Given the description of an element on the screen output the (x, y) to click on. 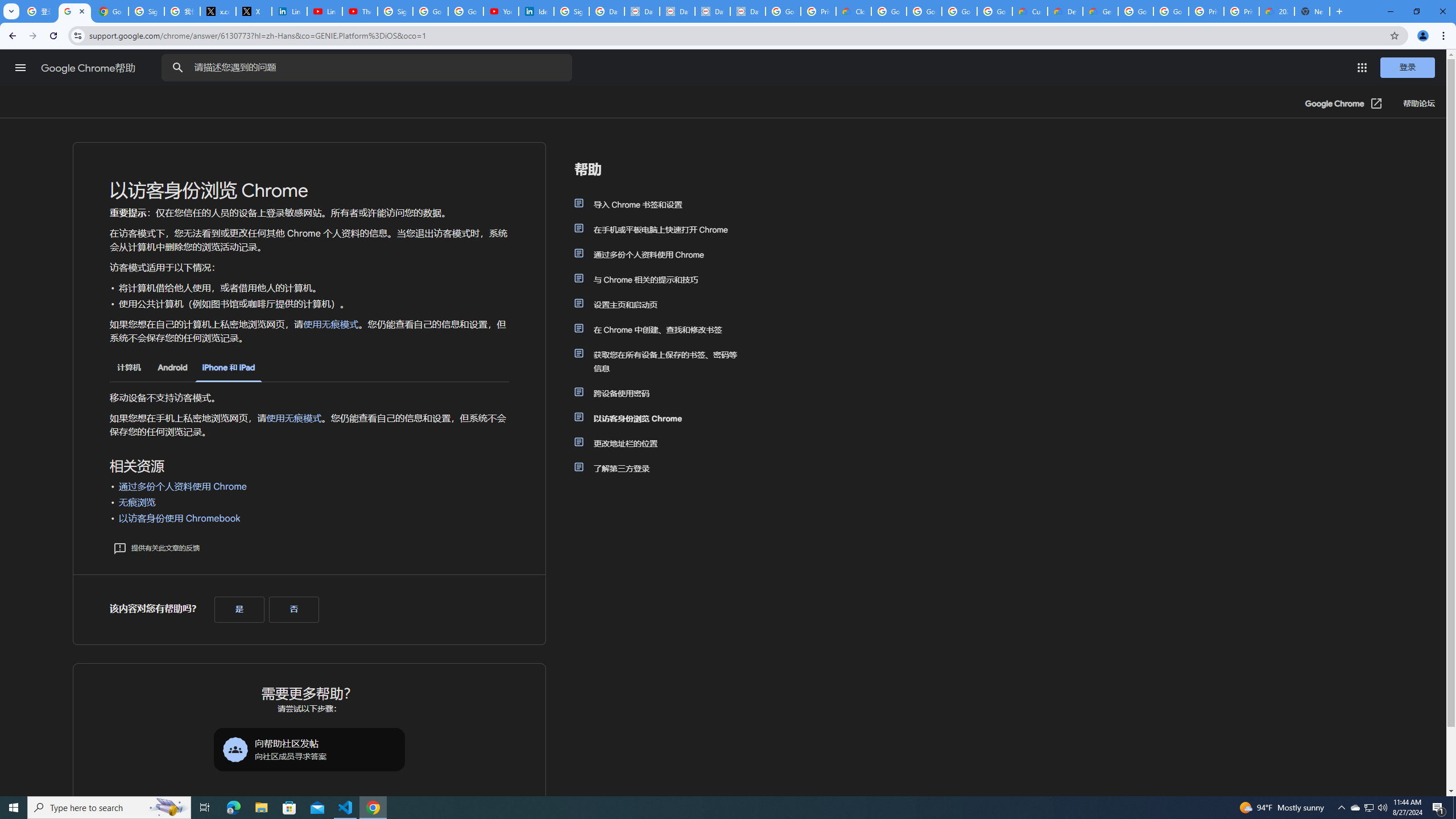
LinkedIn Privacy Policy (288, 11)
Cloud Data Processing Addendum | Google Cloud (853, 11)
LinkedIn - YouTube (324, 11)
Google Cloud Platform (1135, 11)
Sign in - Google Accounts (394, 11)
